Given the description of an element on the screen output the (x, y) to click on. 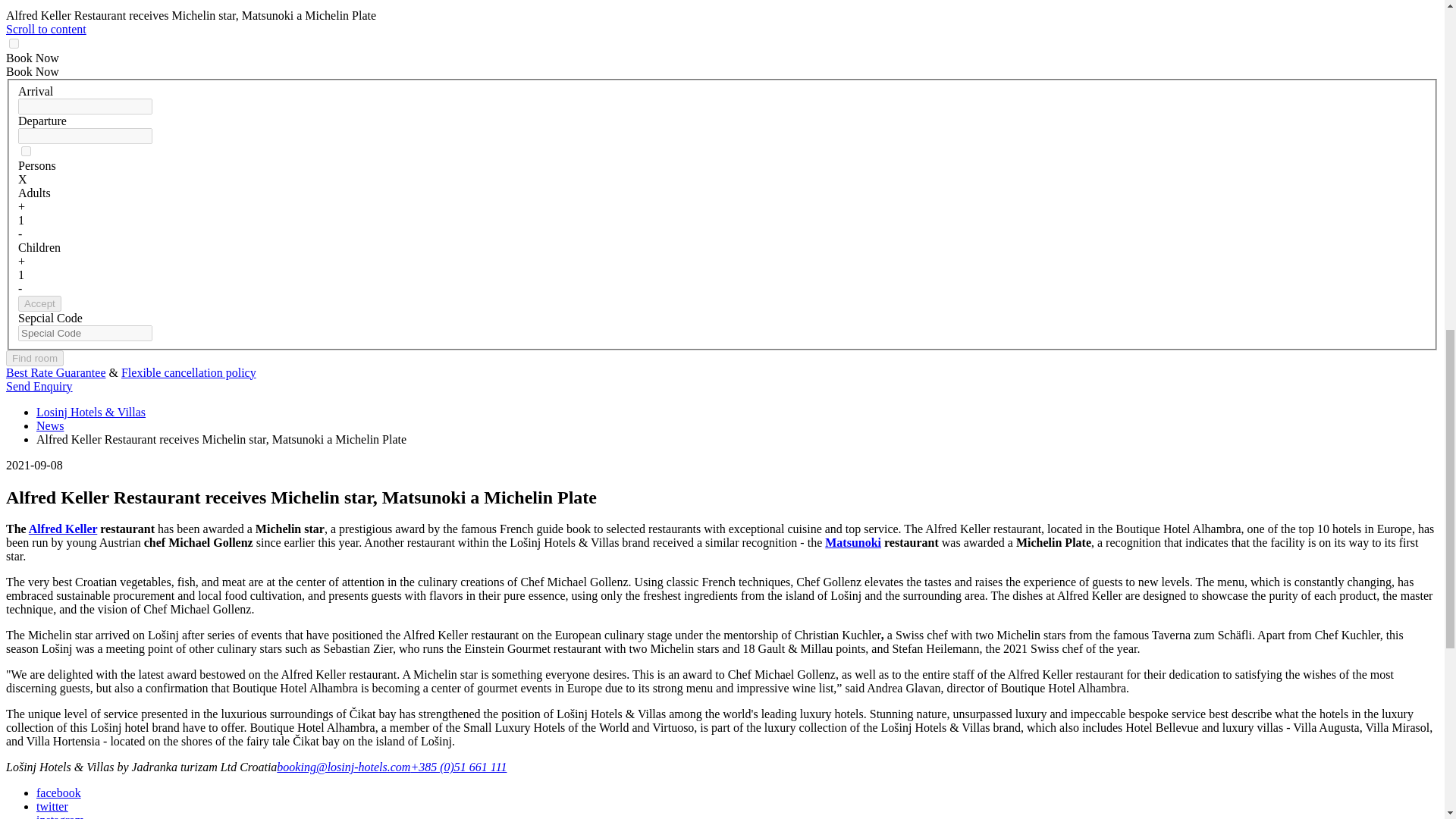
Restaurant Alfred Keller (63, 528)
Follow us on Twitter (52, 806)
Restaurant Matsunoki (852, 542)
Follow us on Facebook (58, 792)
Scroll to content (45, 29)
on (13, 43)
Follow us on Instagram (60, 816)
